Given the description of an element on the screen output the (x, y) to click on. 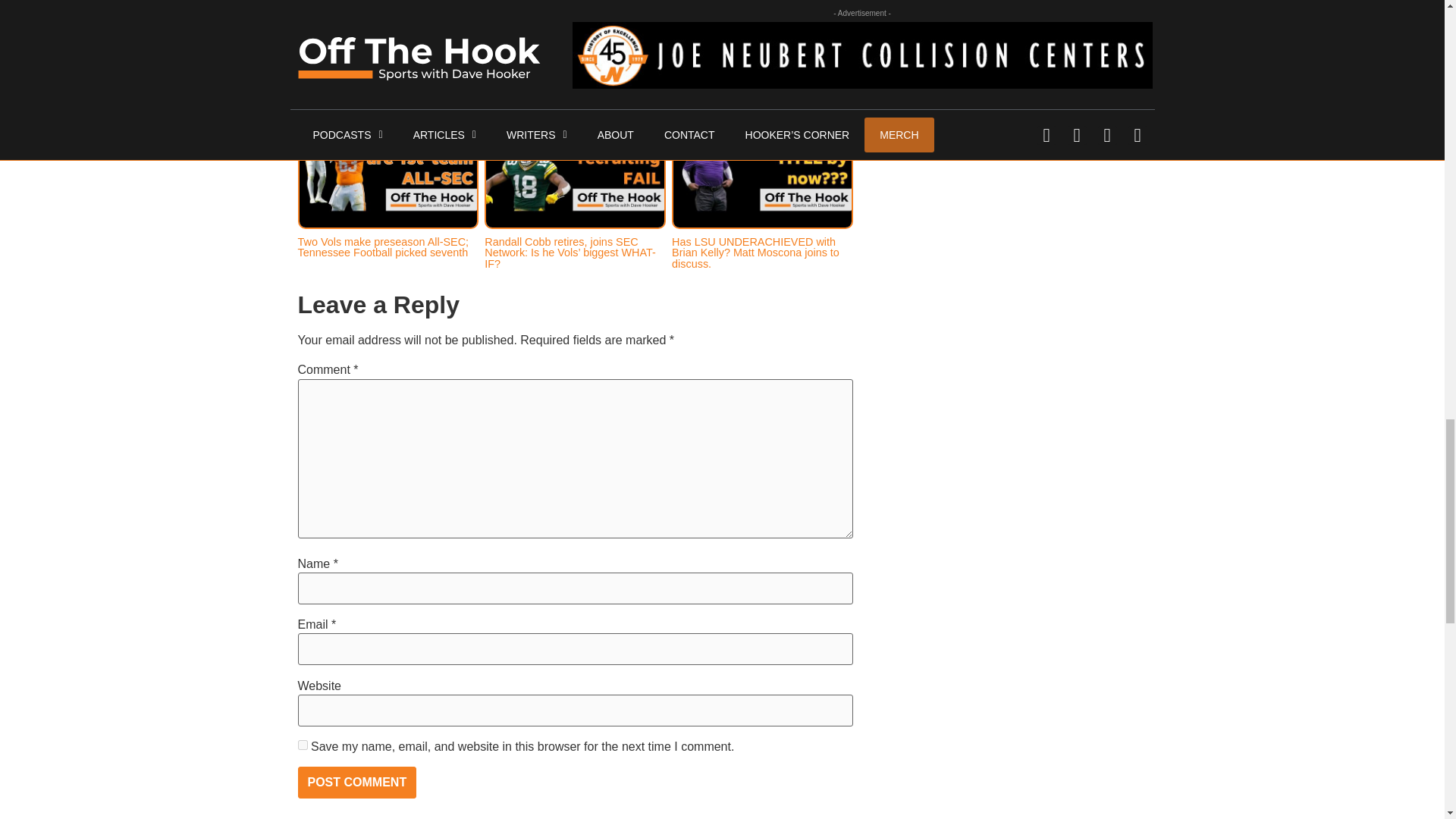
Post Comment (356, 782)
yes (302, 745)
